Given the description of an element on the screen output the (x, y) to click on. 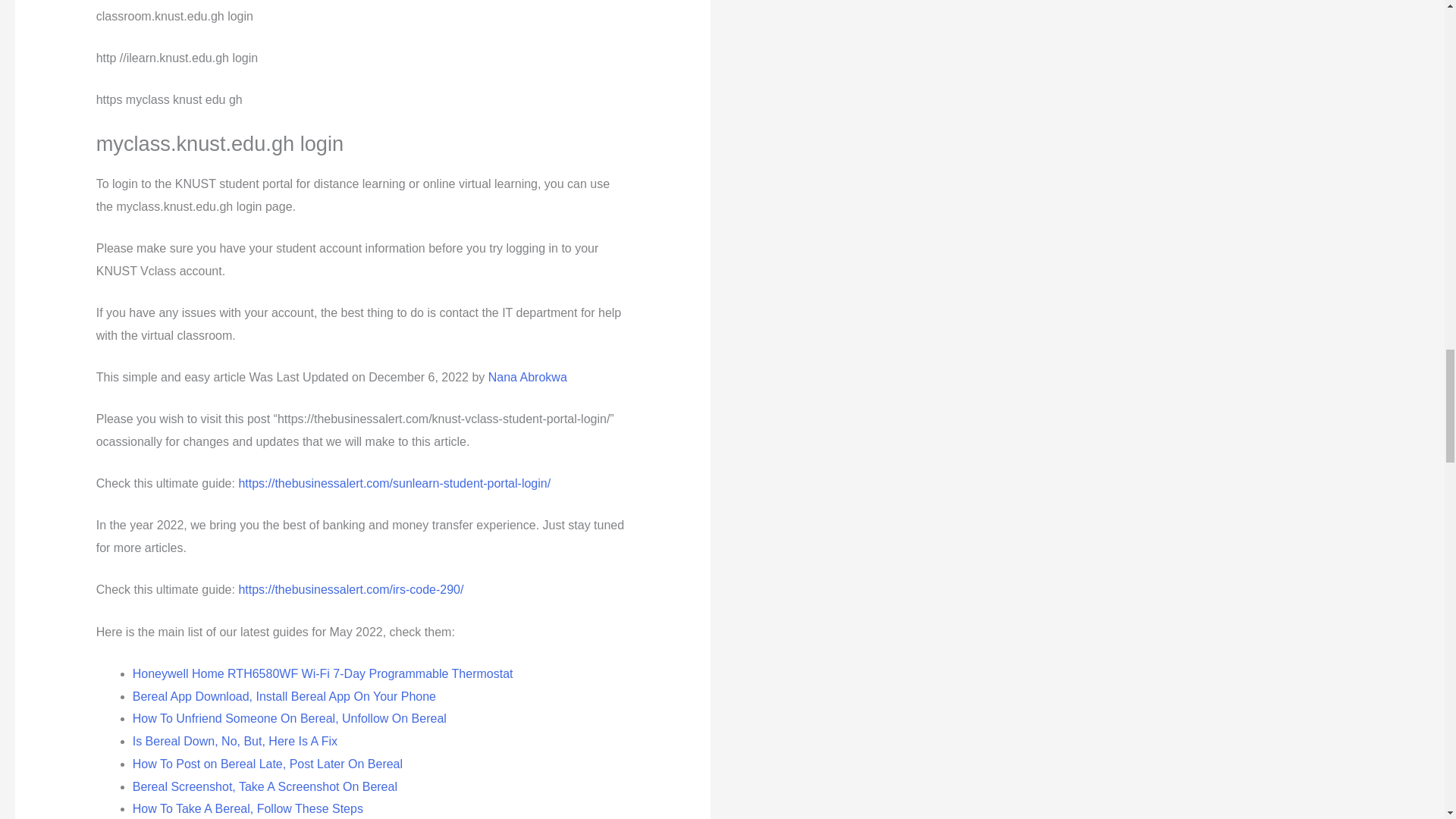
How To Unfriend Someone On Bereal, Unfollow On Bereal (289, 717)
Nana Abrokwa (527, 377)
Bereal App Download, Install Bereal App On Your Phone (283, 696)
Honeywell Home RTH6580WF Wi-Fi 7-Day Programmable Thermostat (322, 673)
How To Take A Bereal, Follow These Steps (247, 808)
Bereal Screenshot, Take A Screenshot On Bereal (264, 786)
Is Bereal Down, No, But, Here Is A Fix (234, 740)
How To Post on Bereal Late, Post Later On Bereal (267, 763)
